Given the description of an element on the screen output the (x, y) to click on. 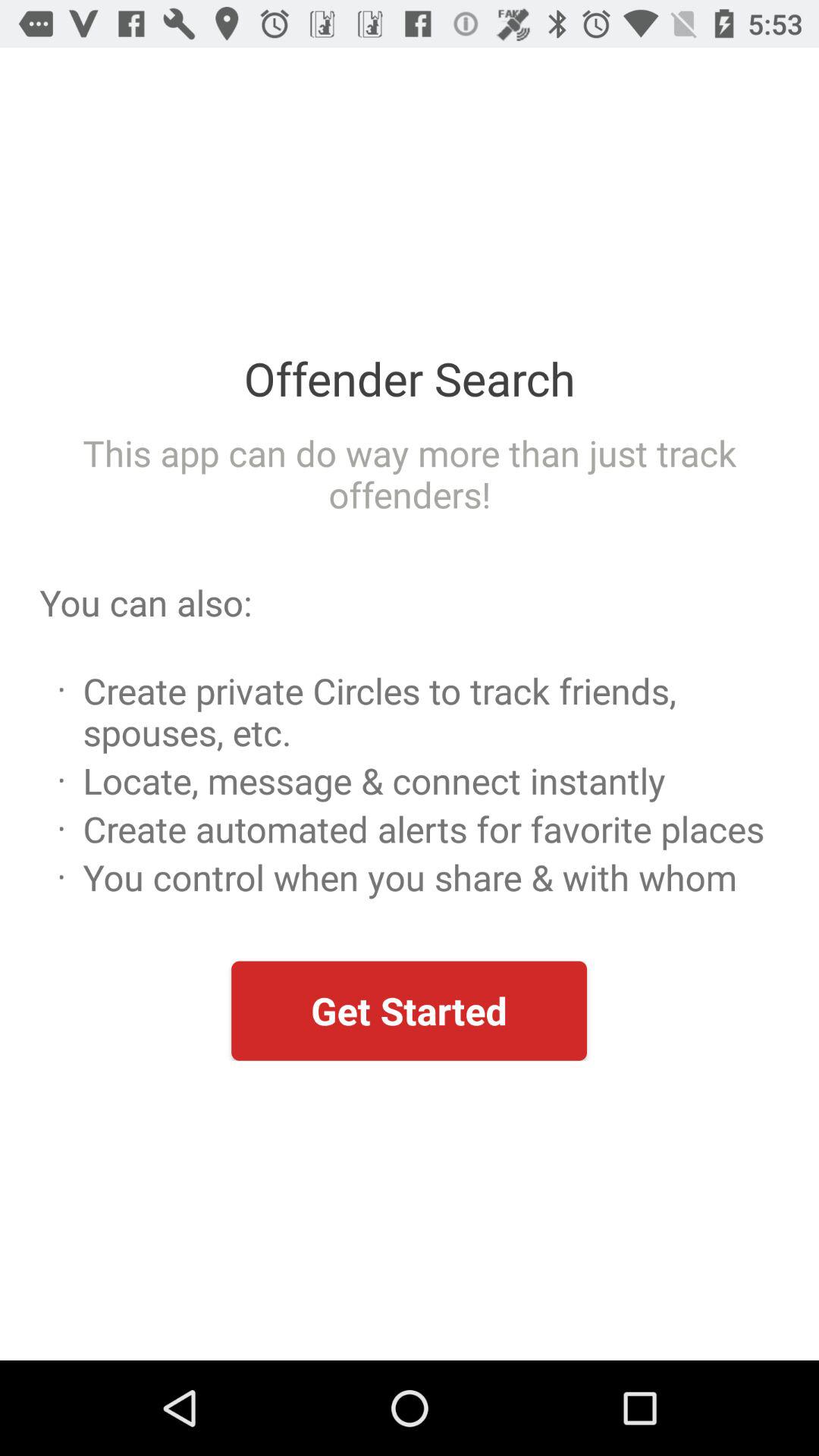
launch get started item (408, 1010)
